Given the description of an element on the screen output the (x, y) to click on. 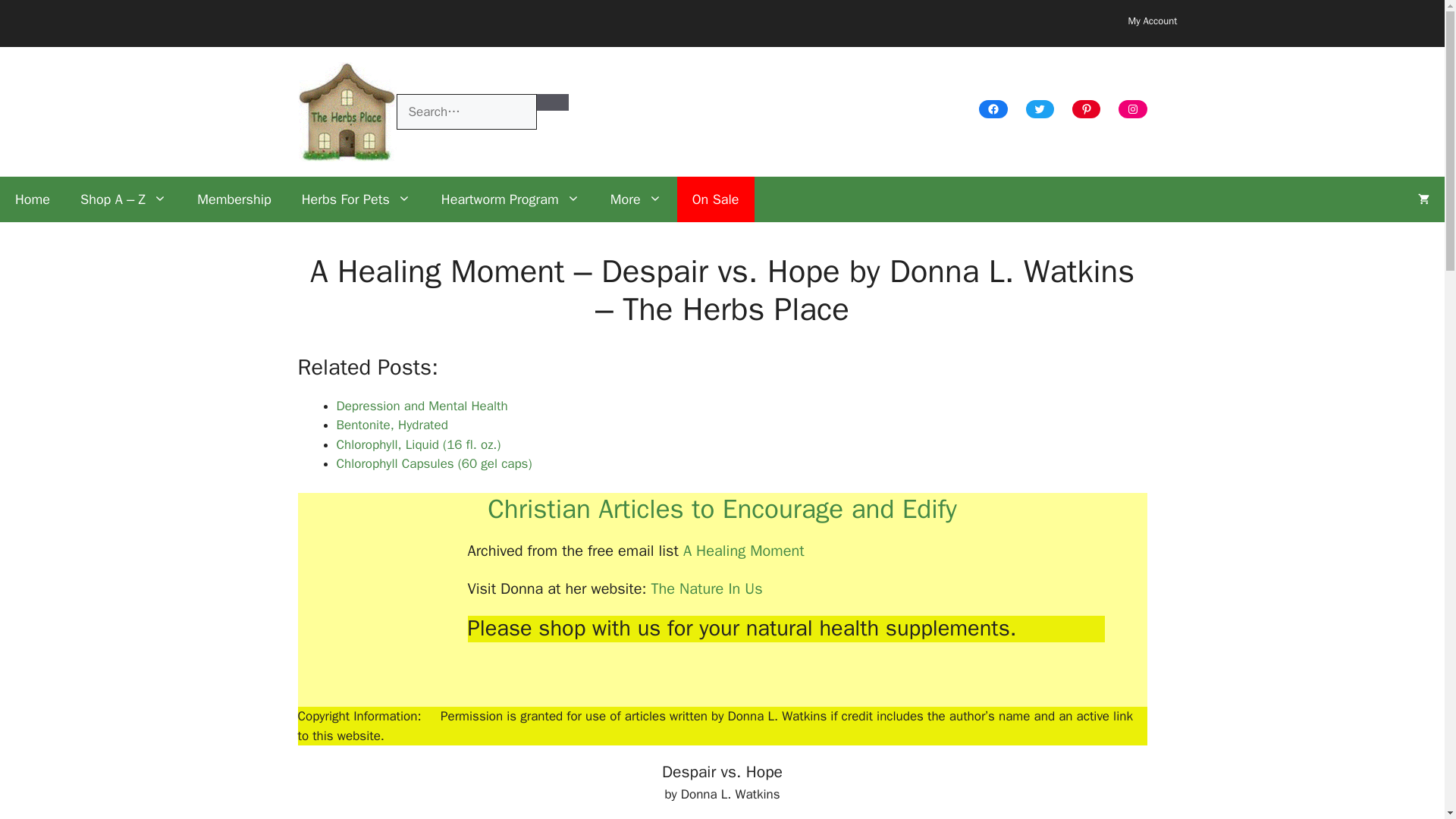
Pinterest (1085, 108)
Facebook (992, 108)
Twitter (1040, 108)
My Account (1152, 20)
Membership (233, 198)
Home (32, 198)
Search (553, 102)
Herbs For Pets (356, 198)
Instagram (1132, 108)
fshipping-webp-10 (651, 23)
